Given the description of an element on the screen output the (x, y) to click on. 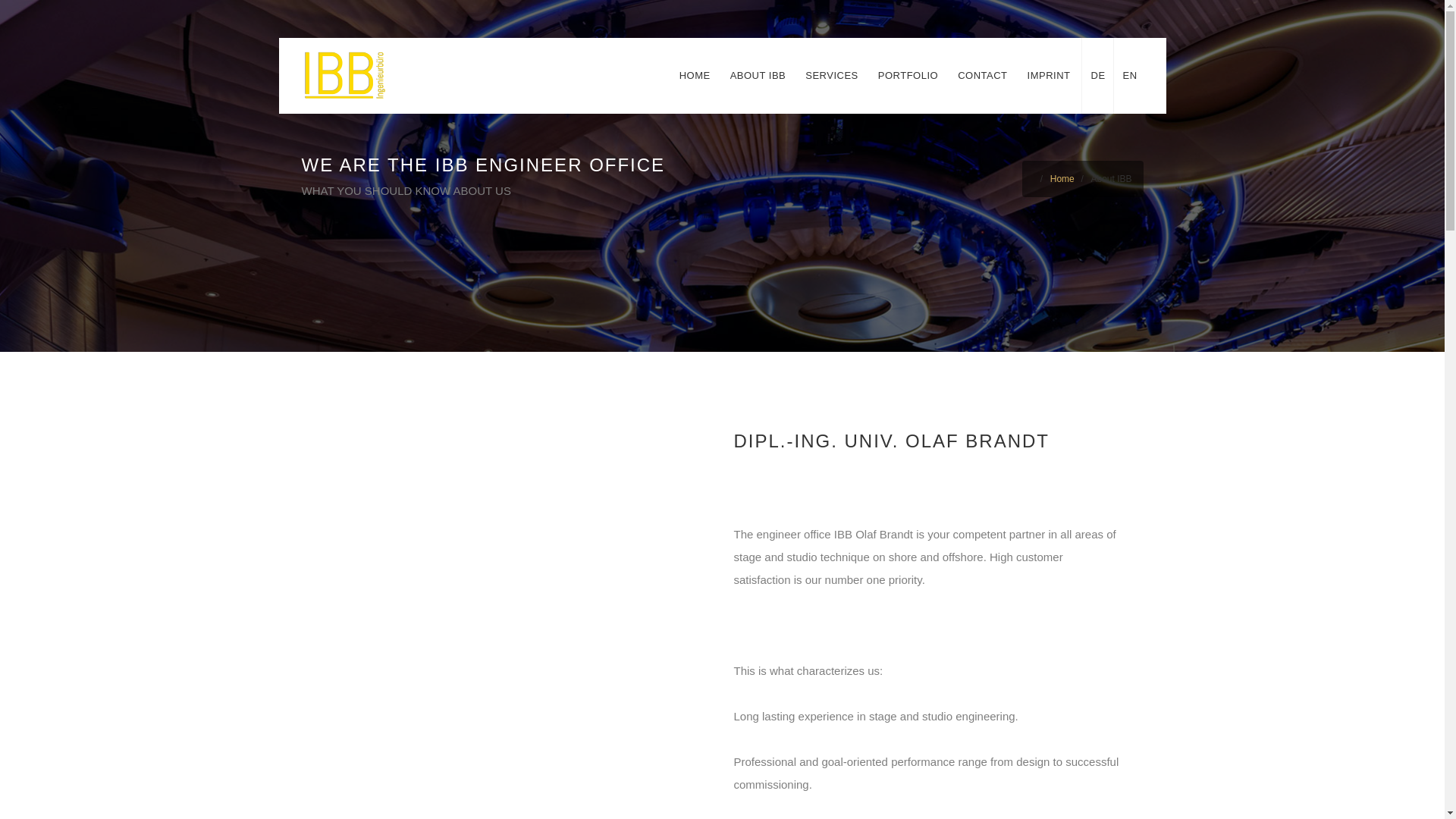
CONTACT (982, 75)
ABOUT IBB (757, 75)
SERVICES (831, 75)
PORTFOLIO (908, 75)
Home (1061, 178)
